Given the description of an element on the screen output the (x, y) to click on. 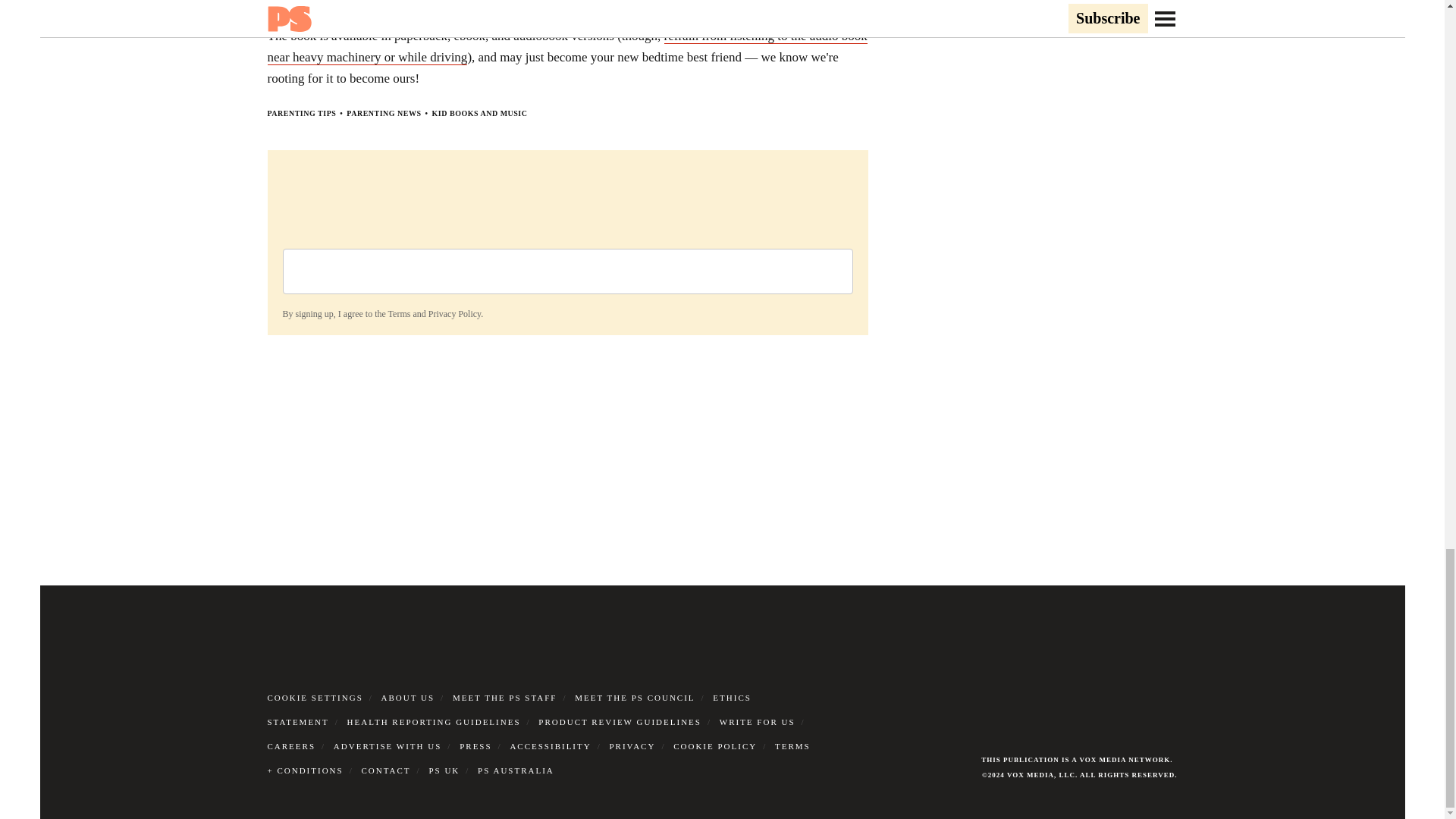
Privacy Policy. (455, 313)
Lizy Mellor (351, 3)
Terms (399, 313)
WRITE FOR US (756, 721)
MEET THE PS COUNCIL (634, 697)
MEET THE PS STAFF (504, 697)
ABOUT US (408, 697)
PRODUCT REVIEW GUIDELINES (619, 721)
PARENTING NEWS (383, 112)
